Given the description of an element on the screen output the (x, y) to click on. 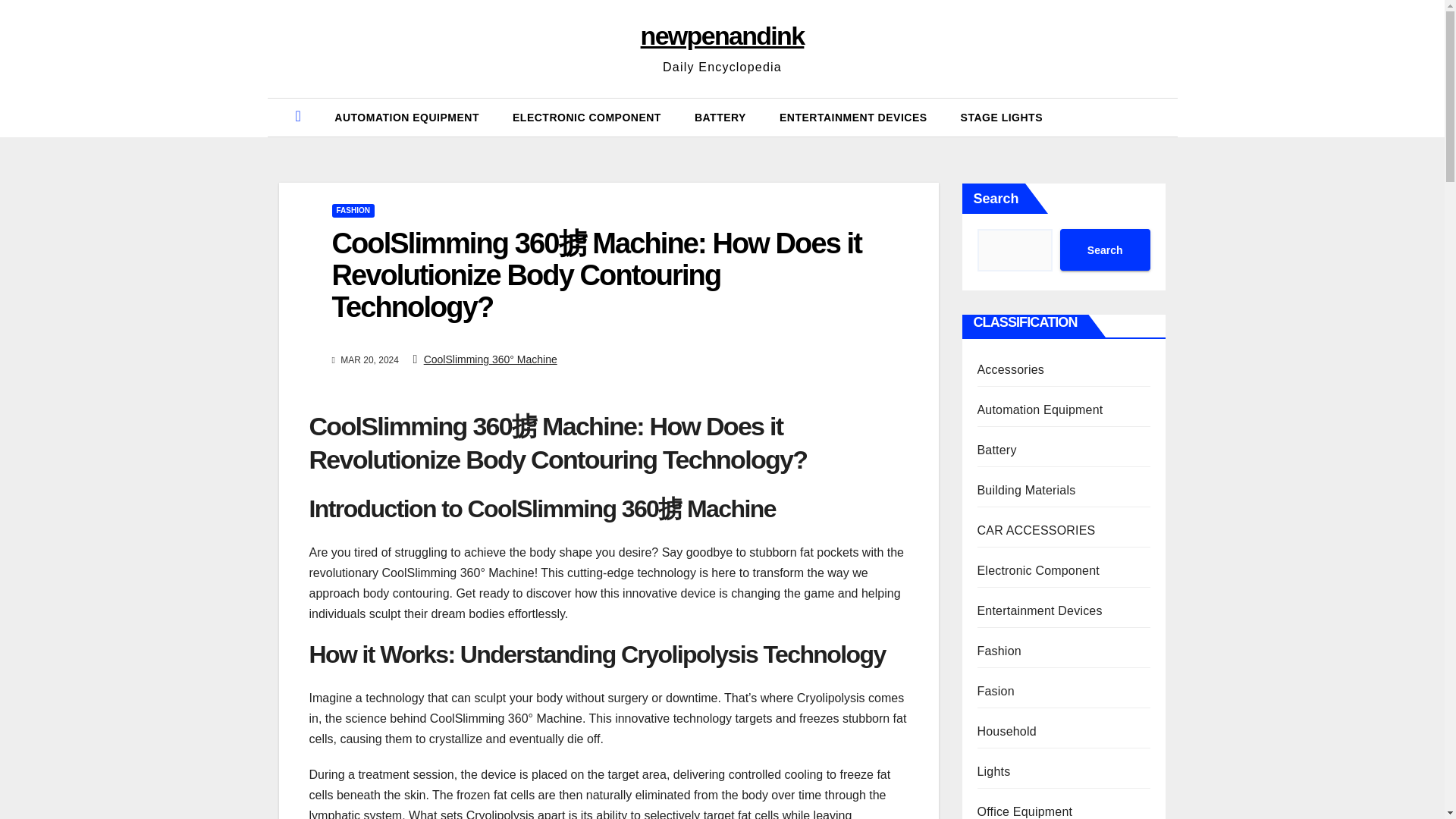
Fashion (998, 650)
ENTERTAINMENT DEVICES (852, 117)
AUTOMATION EQUIPMENT (406, 117)
Fasion (994, 690)
Automation Equipment (1039, 409)
Lights (993, 771)
Automation Equipment (406, 117)
Entertainment Devices (852, 117)
BATTERY (720, 117)
Household (1005, 730)
